Given the description of an element on the screen output the (x, y) to click on. 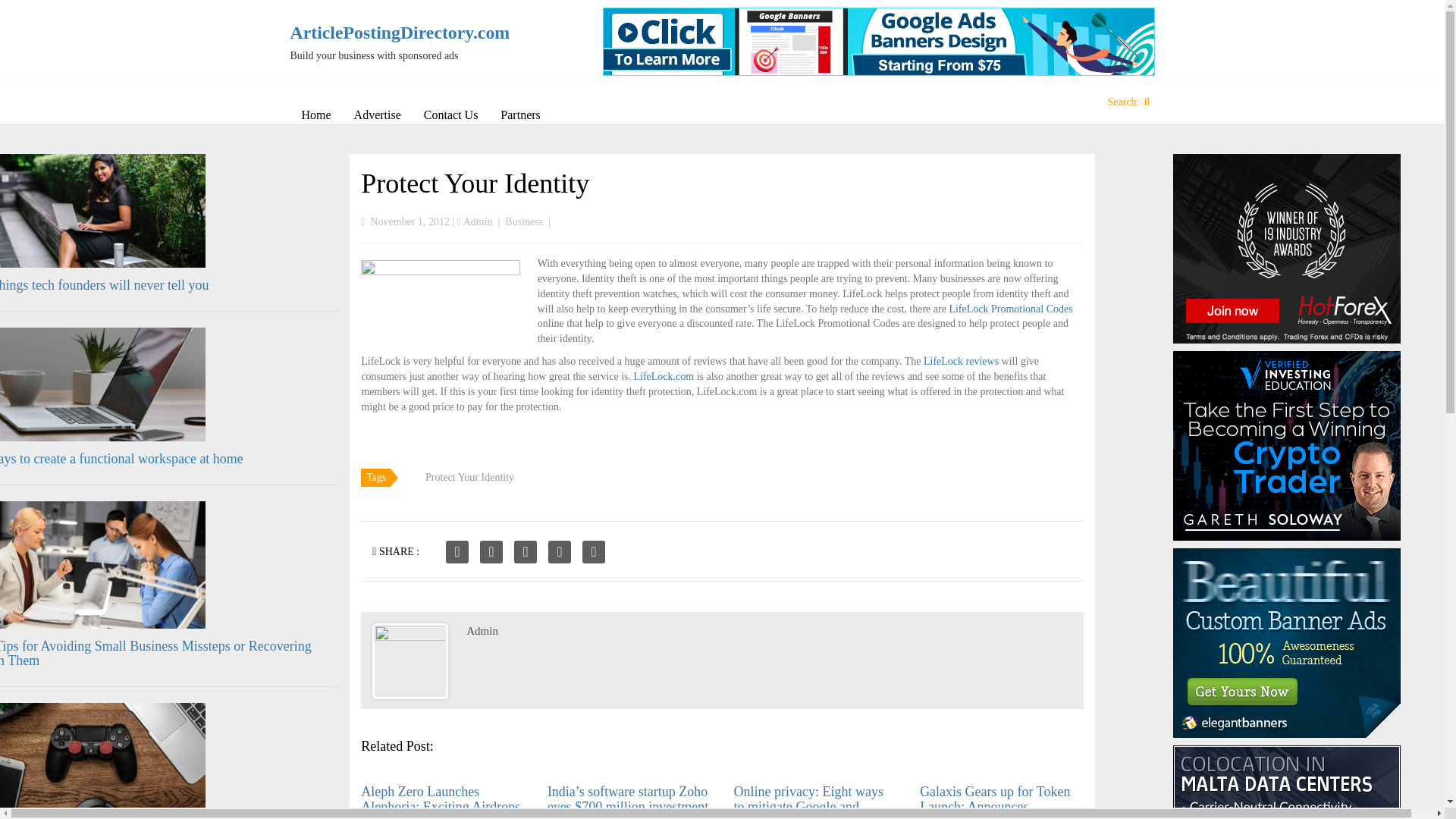
Protect Your Identity (475, 183)
ArticlePostingDirectory.com (389, 32)
Advertise (377, 115)
Partners (520, 115)
Admin (478, 221)
Posts by Admin (478, 221)
Home (315, 115)
10 things tech founders will never tell you (104, 284)
Contact Us (450, 115)
Share on Facebook (456, 551)
5 ways to create a functional workspace at home (121, 458)
Posts by Admin (481, 630)
